Given the description of an element on the screen output the (x, y) to click on. 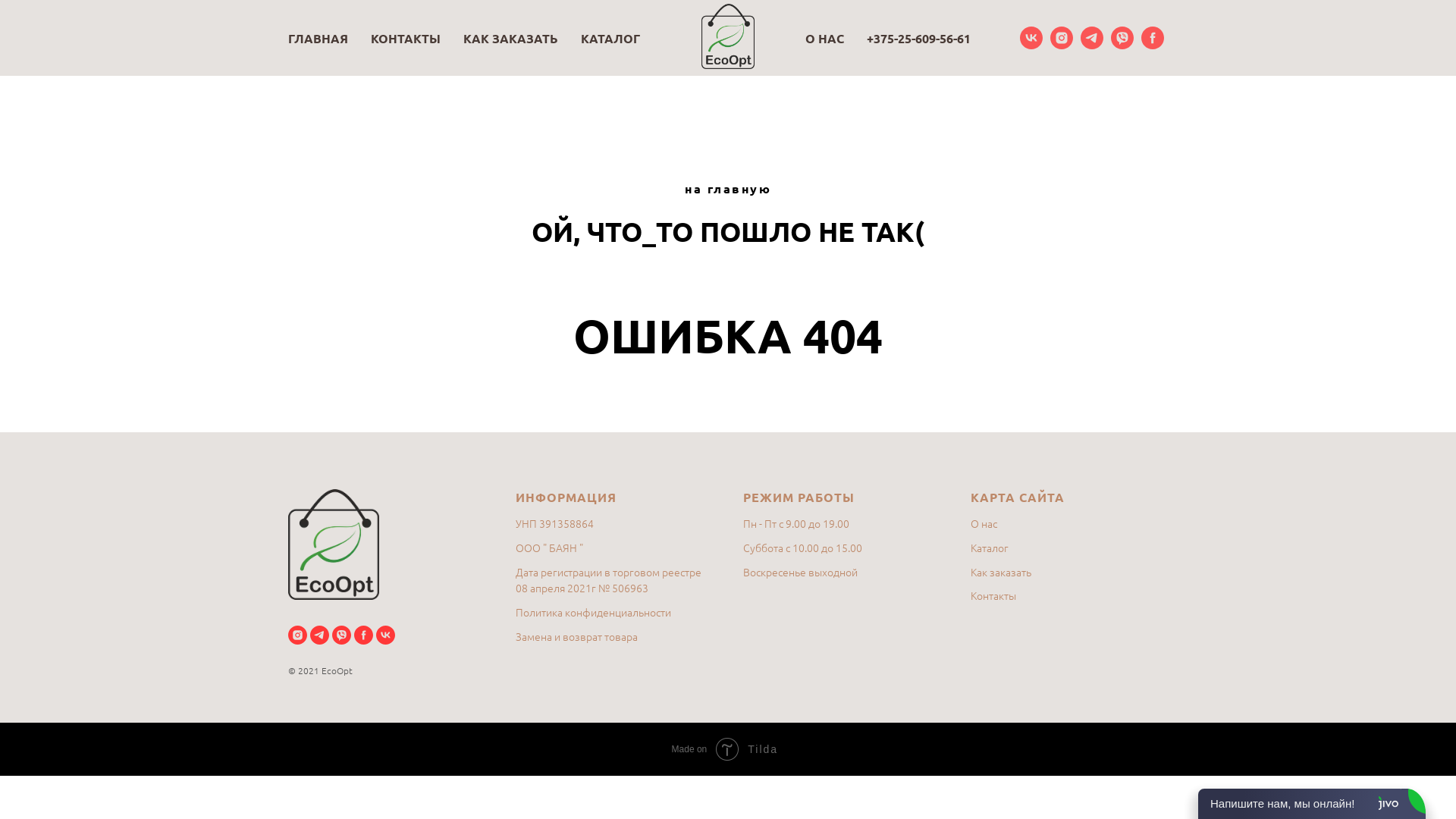
+375-25-609-56-61 Element type: text (918, 38)
